Given the description of an element on the screen output the (x, y) to click on. 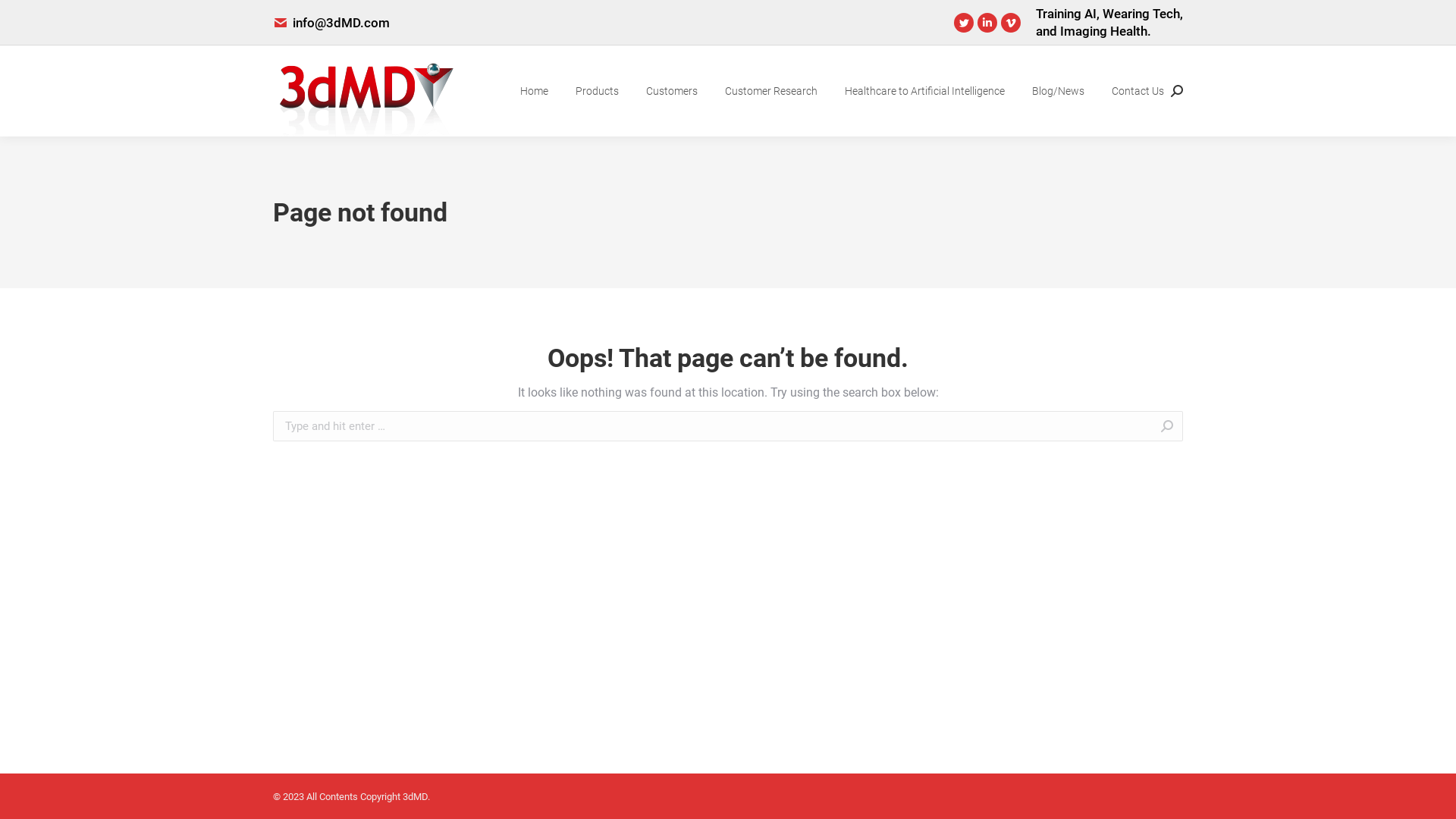
Linkedin page opens in new window Element type: text (987, 22)
Contact Us Element type: text (1137, 90)
Twitter page opens in new window Element type: text (963, 22)
Customers Element type: text (671, 90)
Blog/News Element type: text (1058, 90)
Vimeo page opens in new window Element type: text (1010, 22)
Go! Element type: text (23, 16)
Healthcare to Artificial Intelligence Element type: text (924, 90)
Products Element type: text (596, 90)
info@3dMD.com Element type: text (340, 22)
Customer Research Element type: text (770, 90)
Home Element type: text (534, 90)
Go! Element type: text (1206, 427)
